Given the description of an element on the screen output the (x, y) to click on. 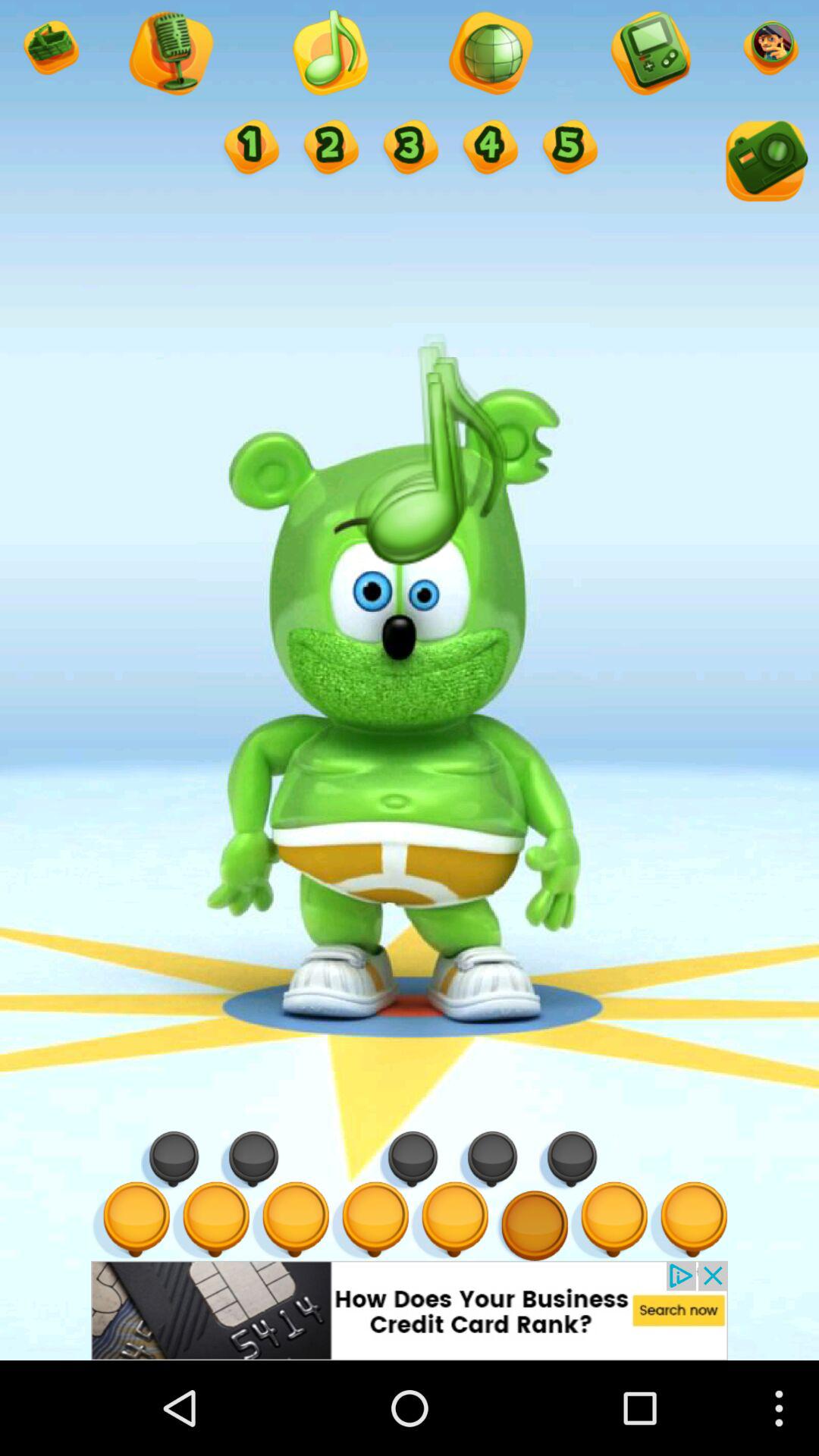
select option (49, 49)
